Given the description of an element on the screen output the (x, y) to click on. 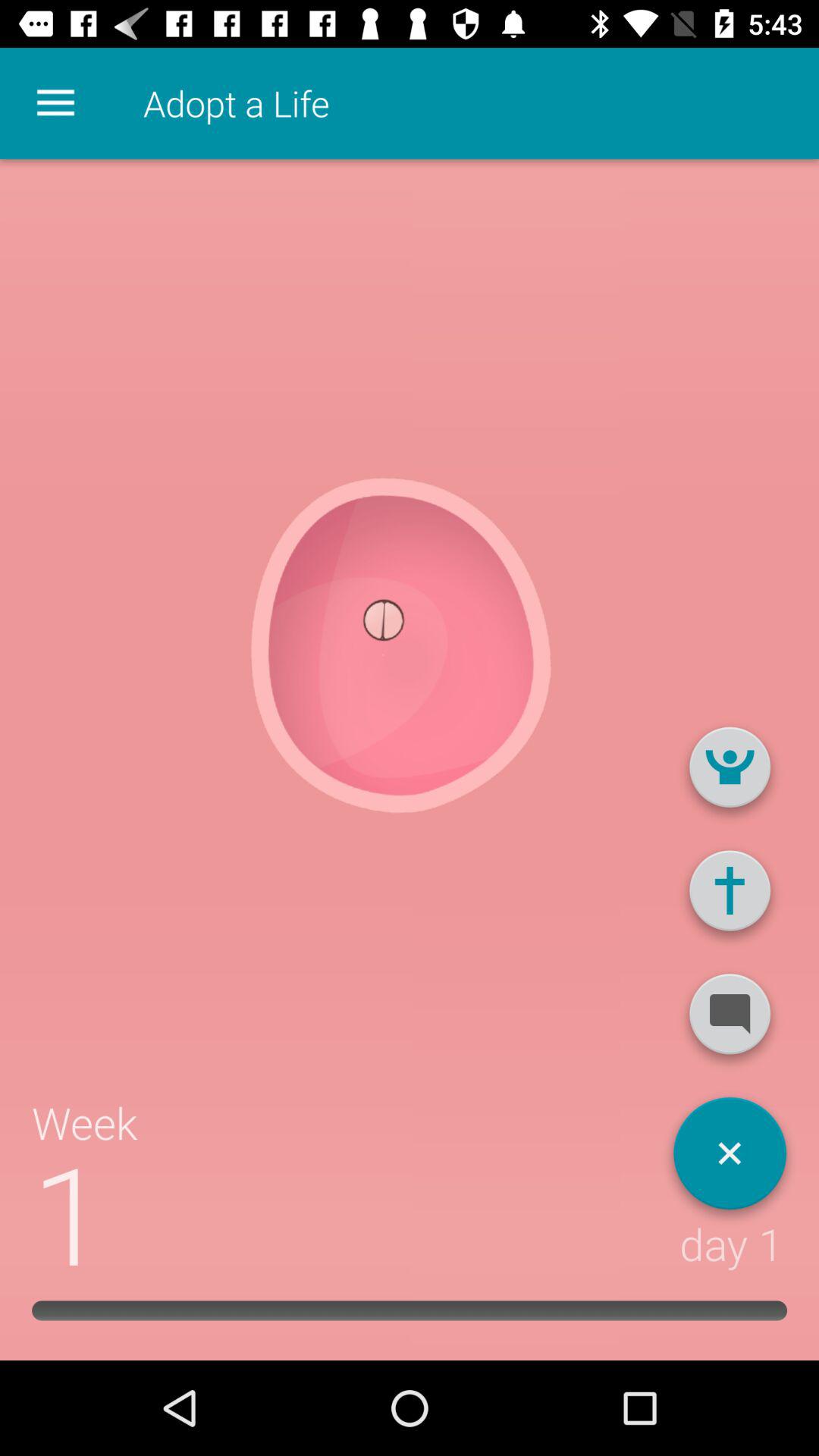
go to message (729, 1019)
